Given the description of an element on the screen output the (x, y) to click on. 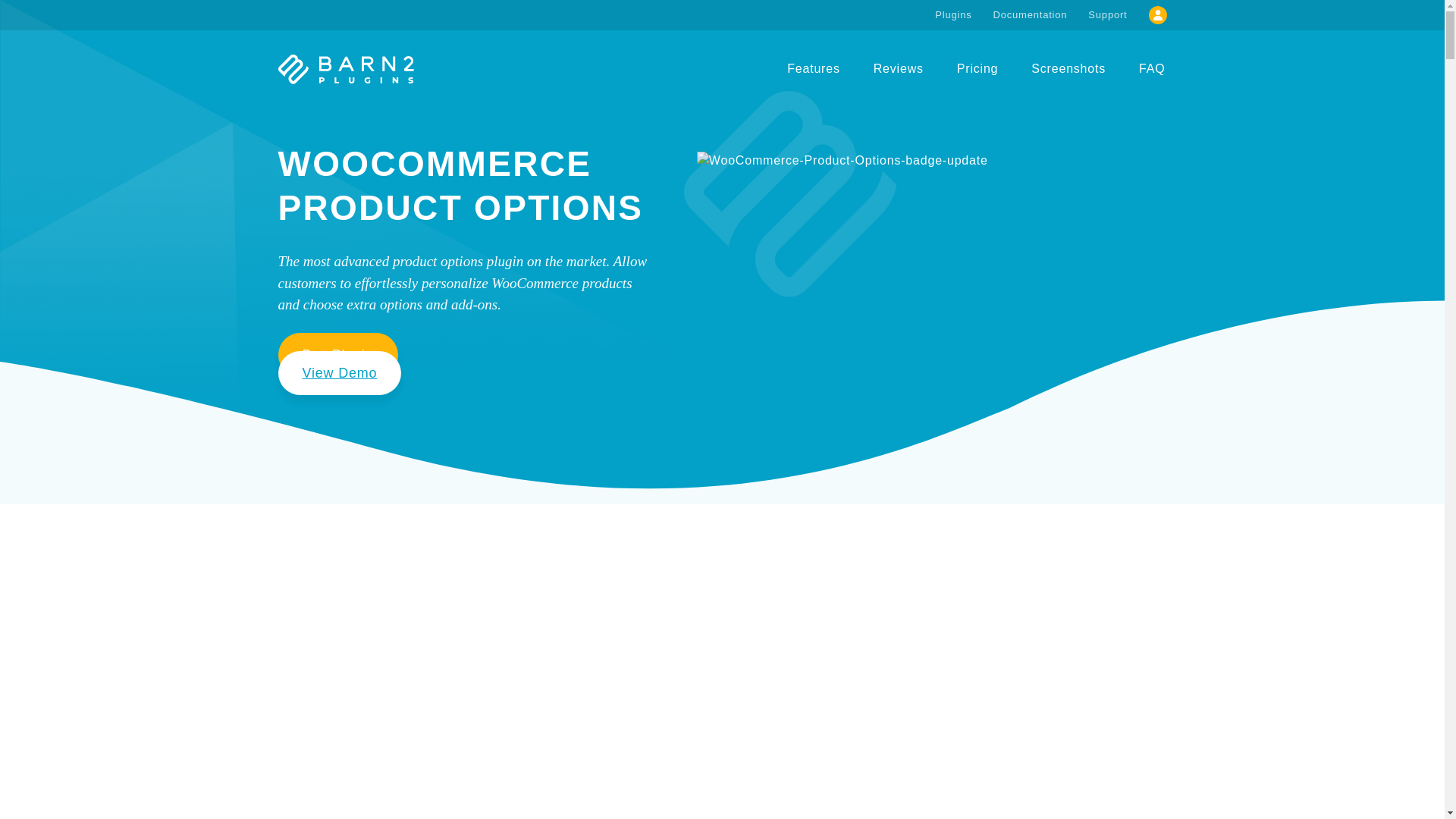
Buy Plugin (337, 353)
FAQ (1151, 68)
My Account (1157, 14)
Support (1107, 15)
Pricing (977, 68)
Pricing (977, 68)
Documentation (1030, 15)
Plugins (952, 15)
Reviews (898, 68)
View Demo (339, 371)
Features (813, 68)
Screenshots (1068, 68)
